Given the description of an element on the screen output the (x, y) to click on. 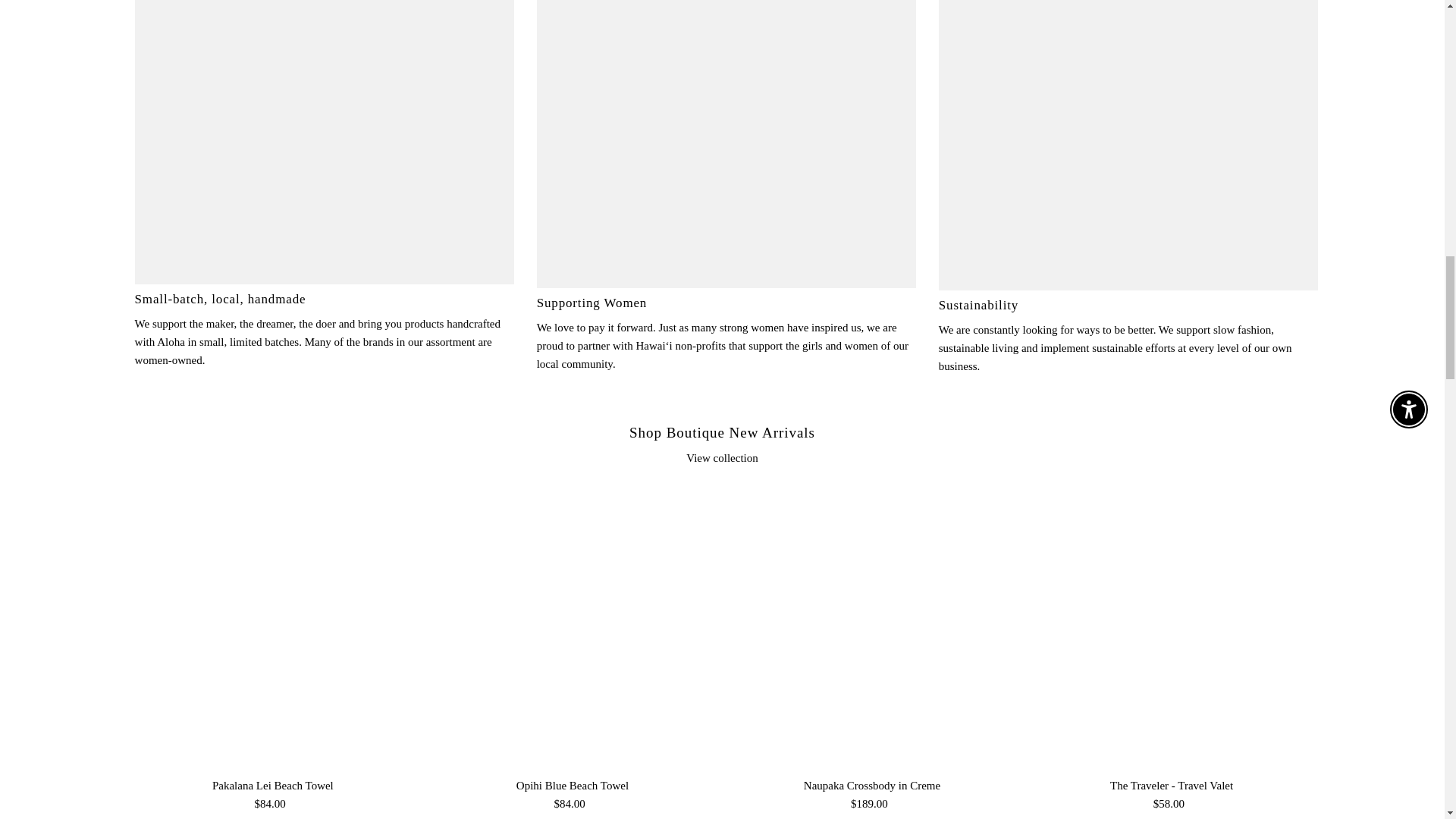
The Traveler - Travel Valet (1171, 628)
Naupaka Crossbody in Creme (871, 628)
Pakalana Lei Beach Towel (272, 628)
Opihi Blue Beach Towel (571, 628)
